Given the description of an element on the screen output the (x, y) to click on. 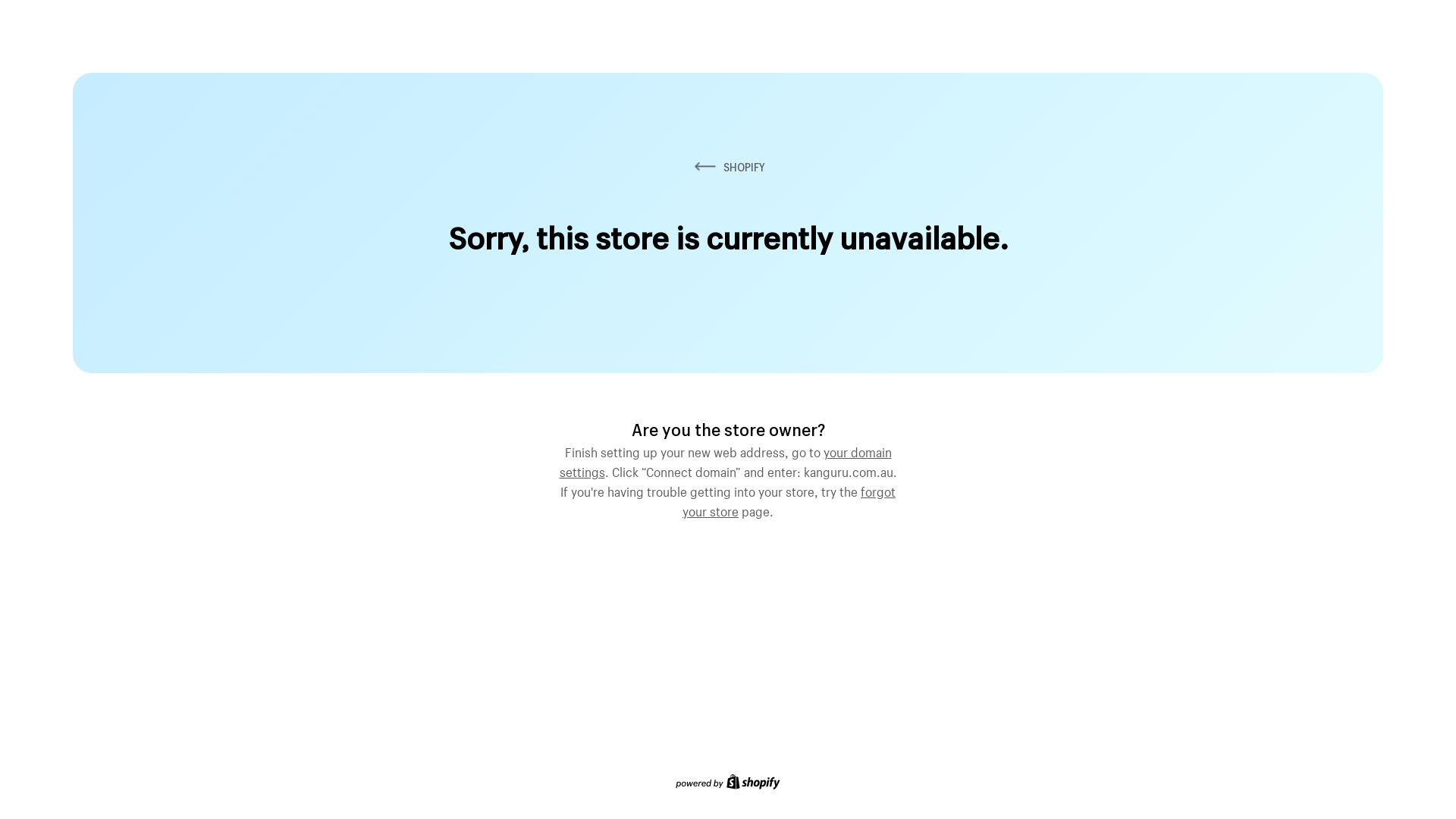
forgot your store Element type: text (788, 499)
SHOPIFY Element type: text (727, 167)
your domain settings Element type: text (725, 460)
